Given the description of an element on the screen output the (x, y) to click on. 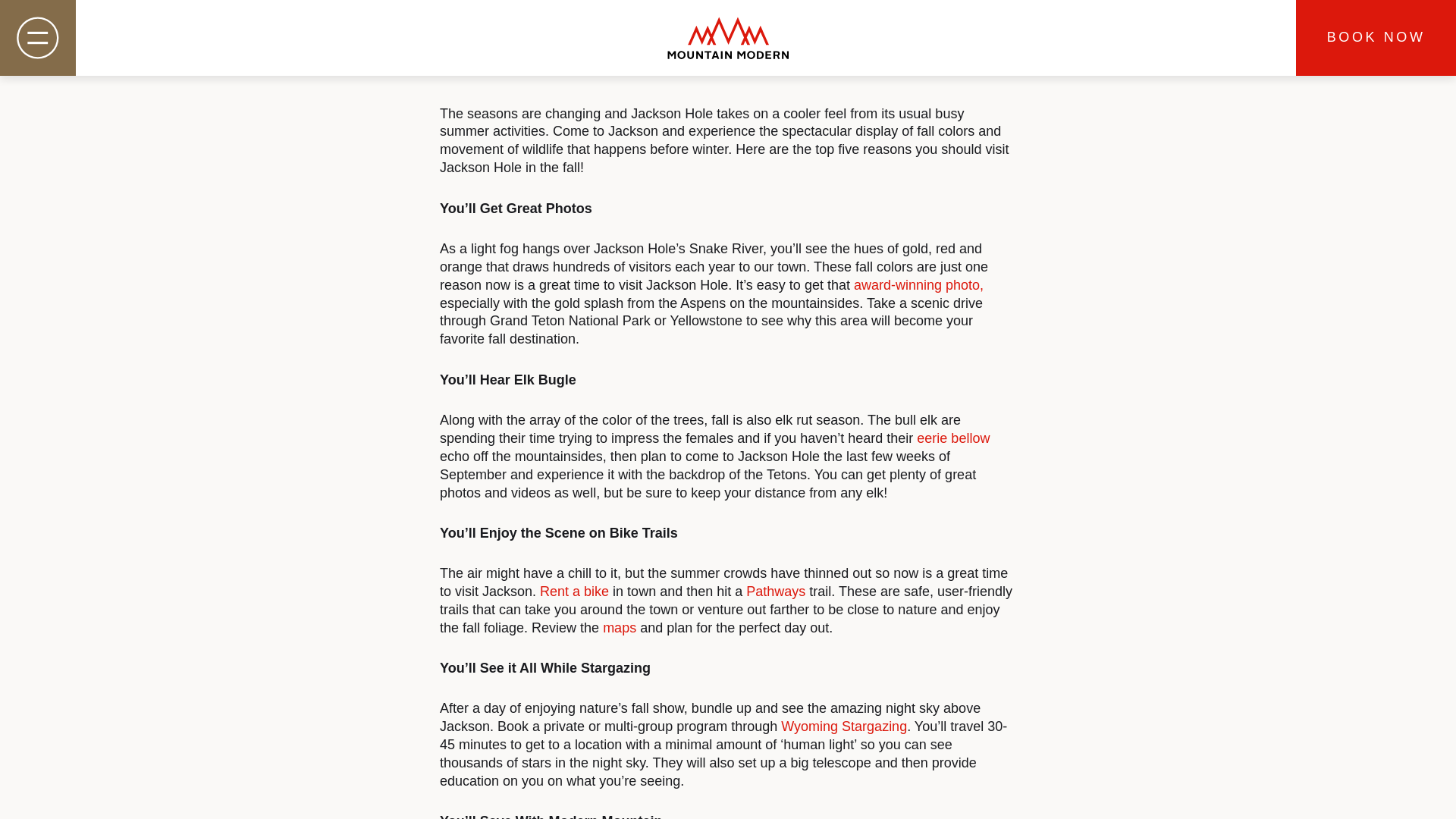
award-winning photo, (918, 284)
Rent a bike (574, 590)
eerie bellow (953, 437)
Pathways (775, 590)
Wyoming Stargazing (843, 726)
maps (619, 627)
